Given the description of an element on the screen output the (x, y) to click on. 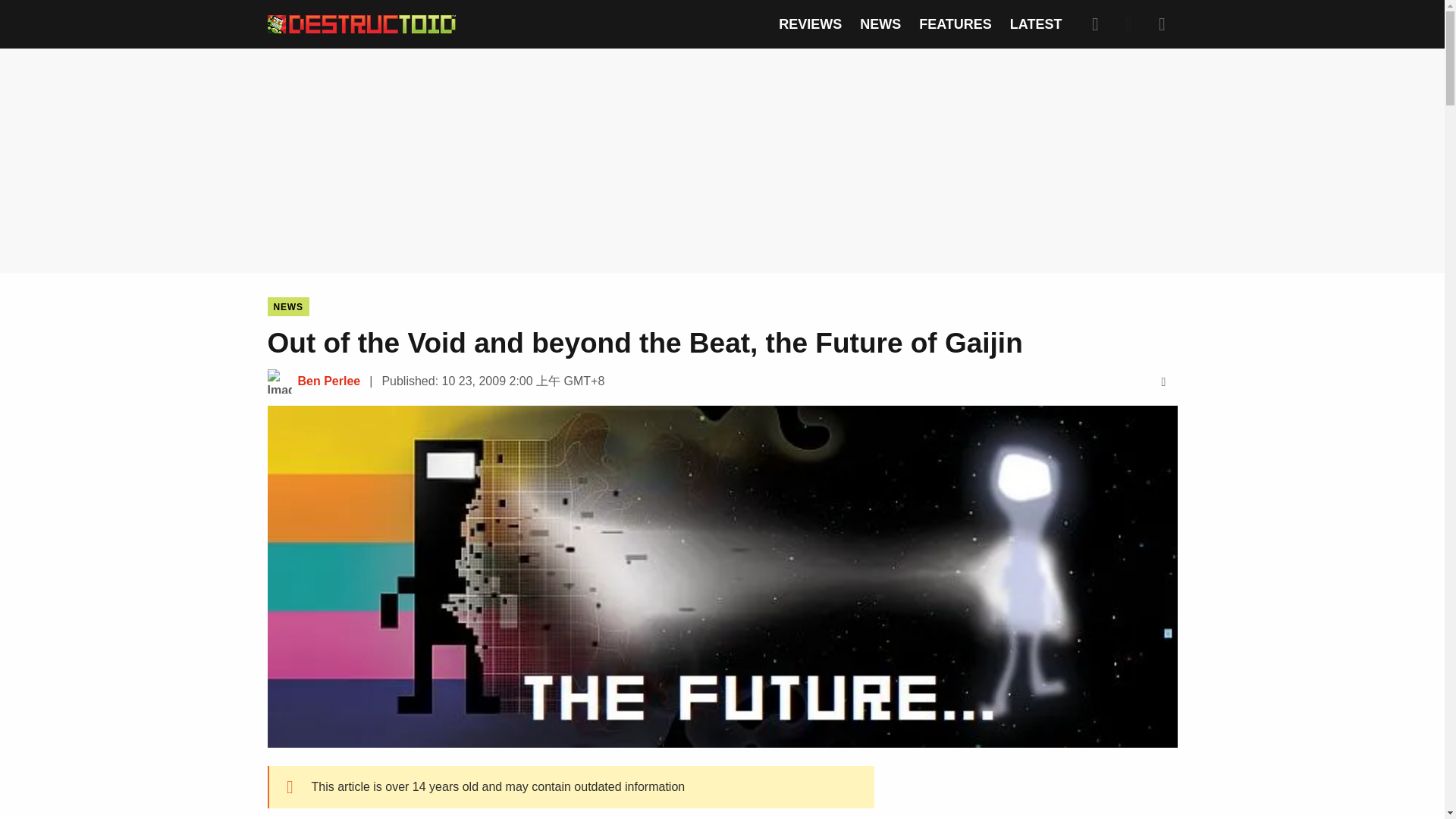
Dark Mode (1127, 24)
Expand Menu (1161, 24)
Search (1094, 24)
LATEST (1036, 23)
NEWS (287, 306)
REVIEWS (809, 23)
FEATURES (954, 23)
NEWS (880, 23)
